Given the description of an element on the screen output the (x, y) to click on. 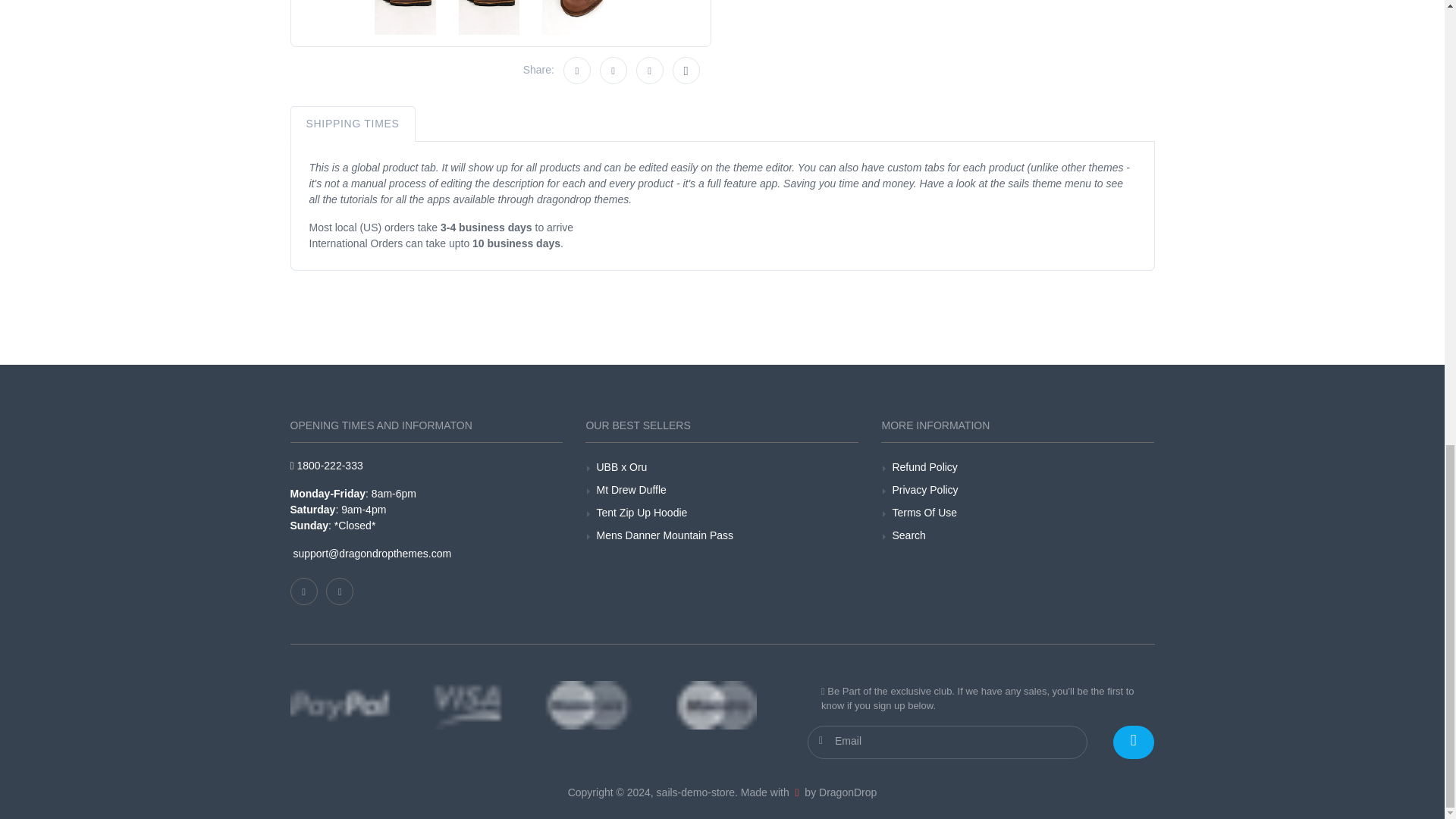
Share (577, 70)
Tweet (613, 70)
Pin it (649, 70)
